Given the description of an element on the screen output the (x, y) to click on. 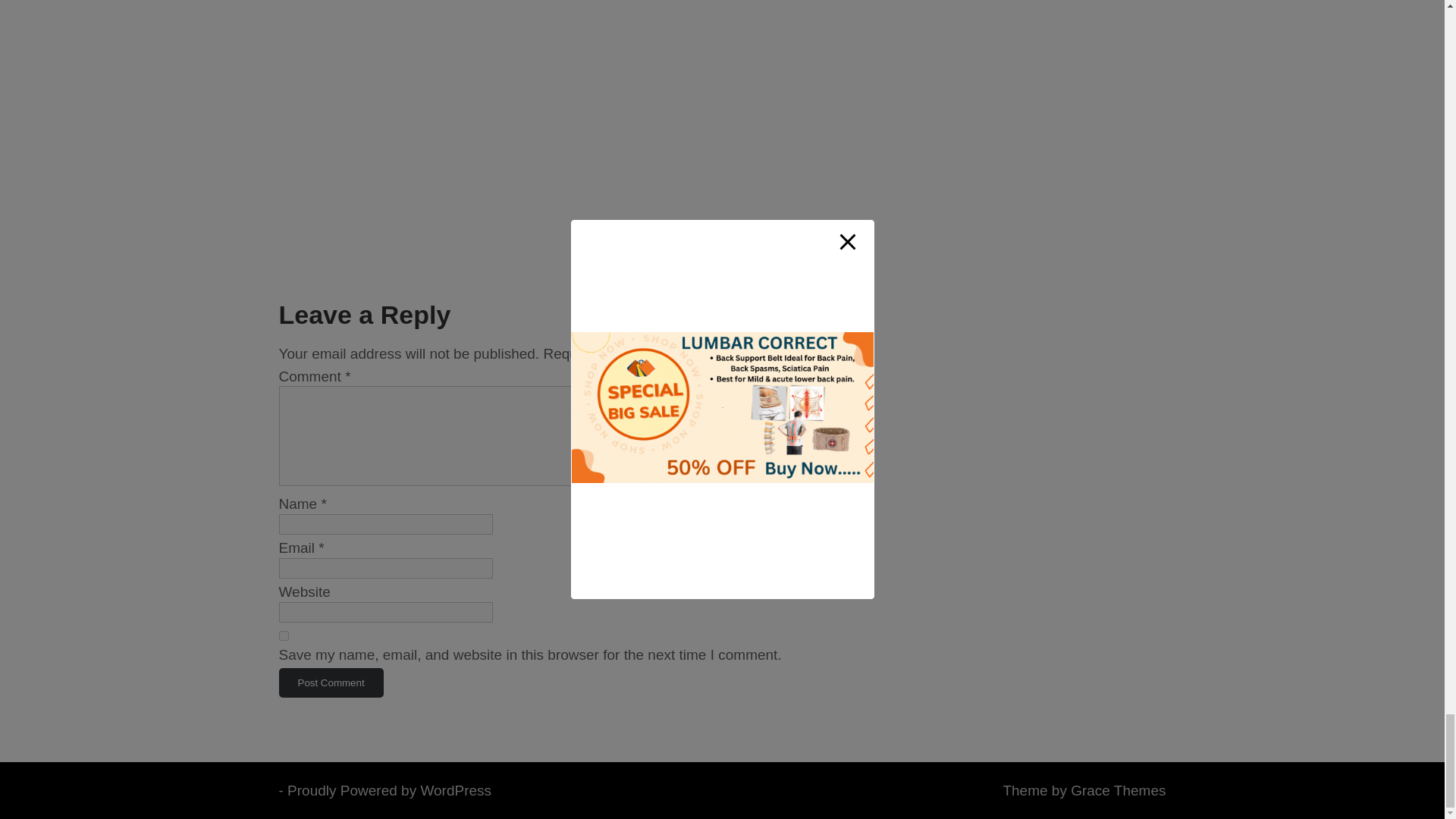
Post Comment (331, 682)
Post Comment (331, 682)
yes (283, 635)
